Given the description of an element on the screen output the (x, y) to click on. 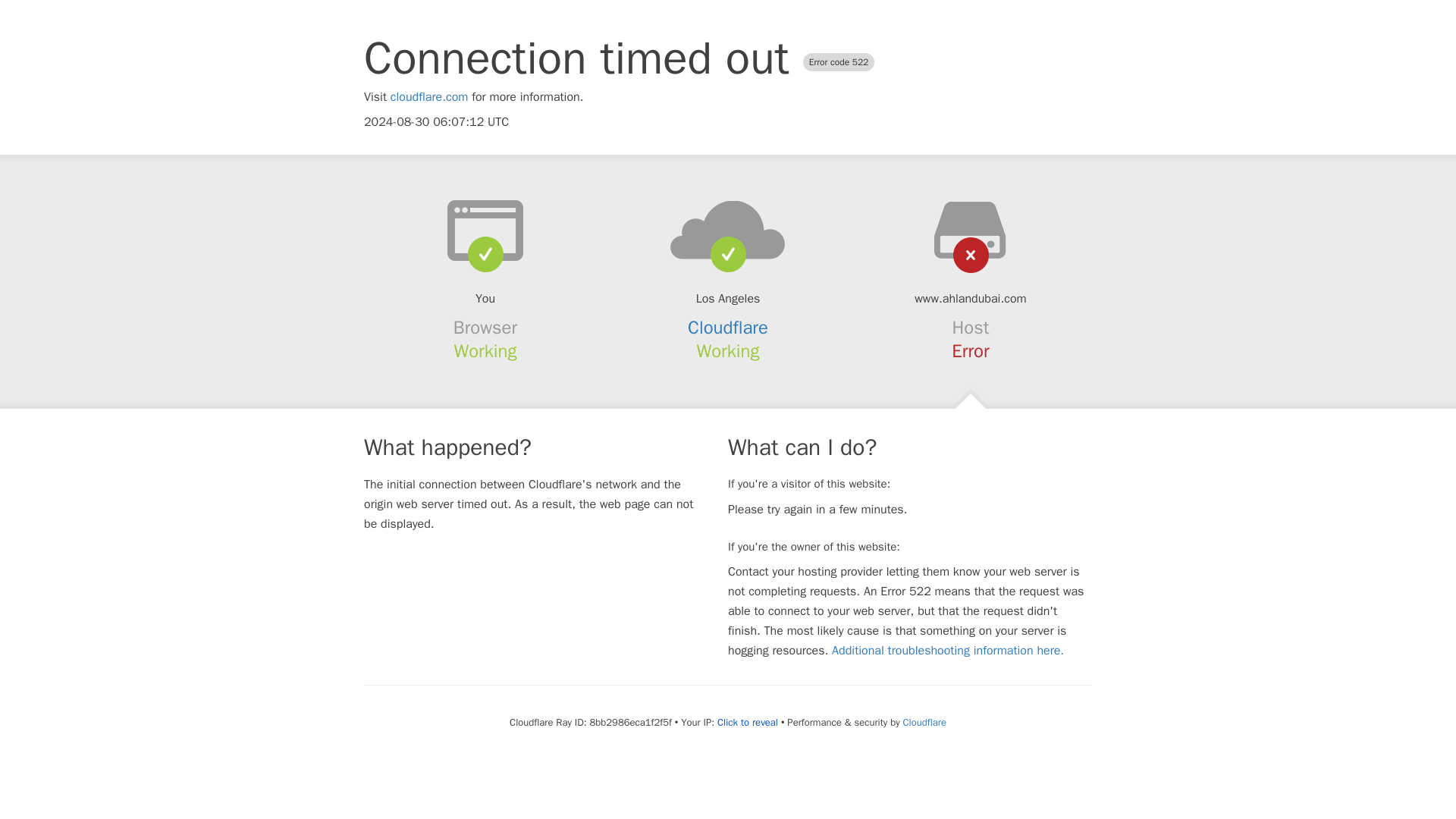
cloudflare.com (429, 96)
Cloudflare (727, 327)
Additional troubleshooting information here. (947, 650)
Click to reveal (747, 722)
Cloudflare (924, 721)
